Given the description of an element on the screen output the (x, y) to click on. 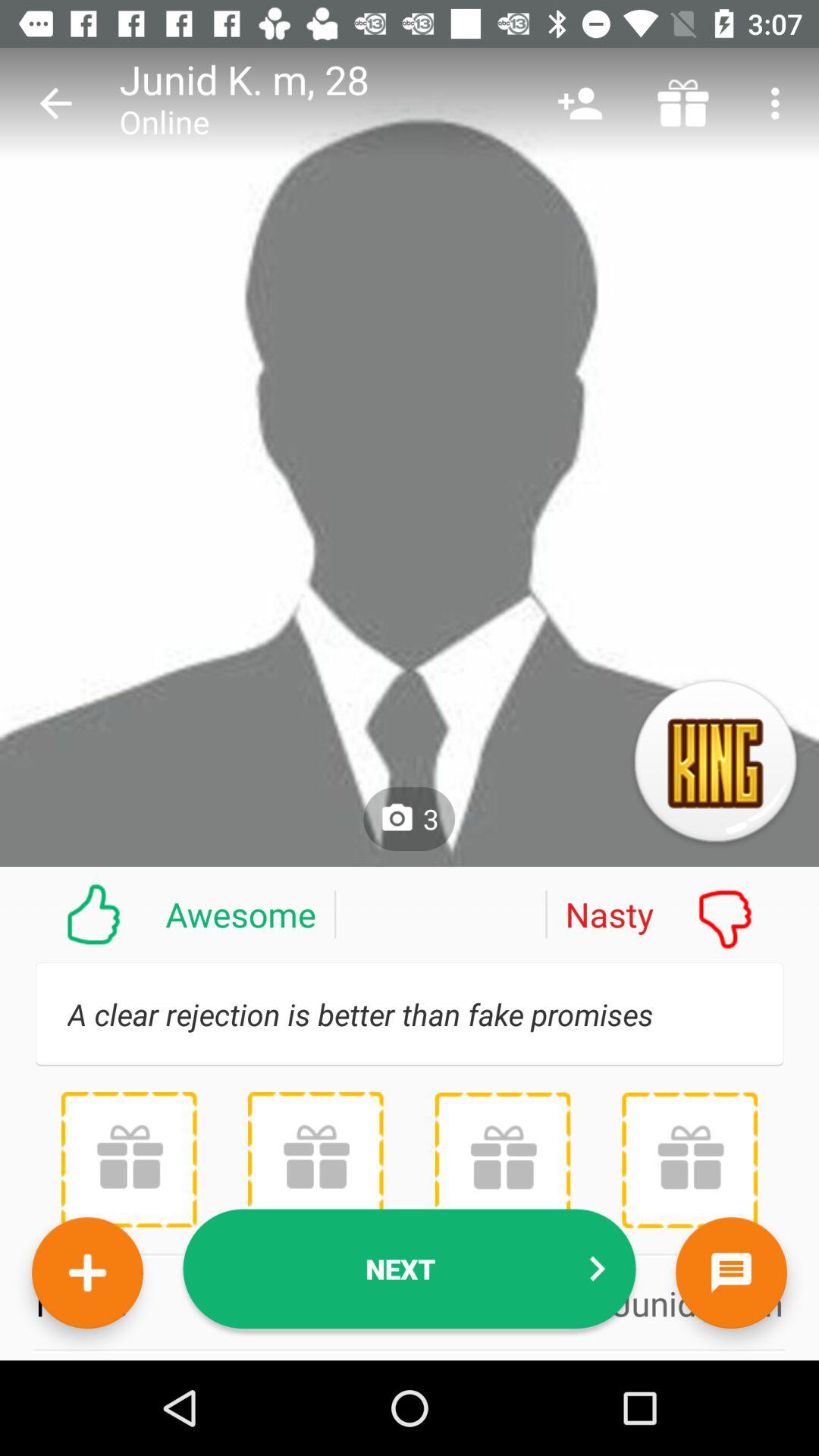
flip to next (409, 1268)
